Given the description of an element on the screen output the (x, y) to click on. 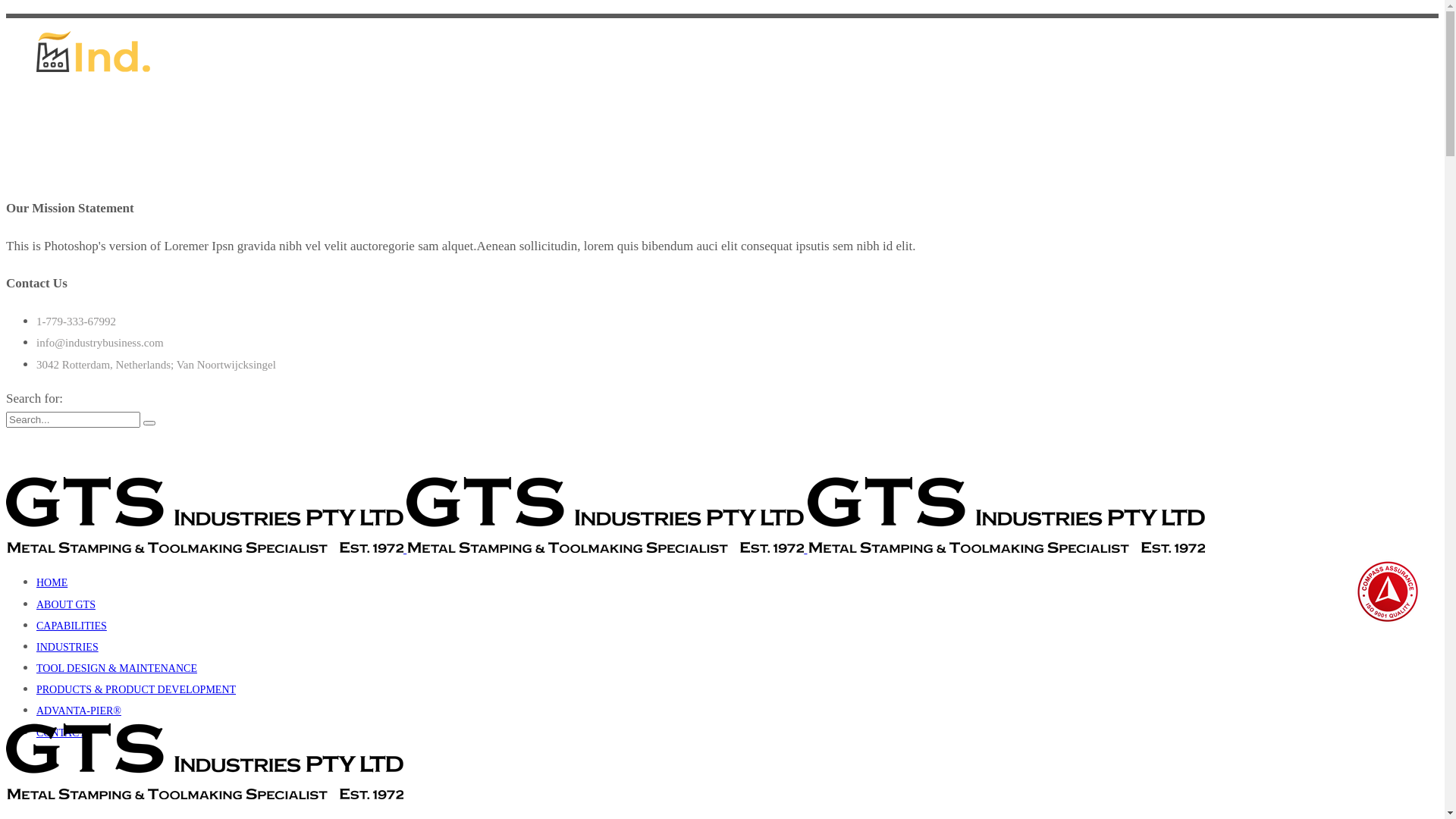
INDUSTRIES Element type: text (67, 646)
PRODUCTS & PRODUCT DEVELOPMENT Element type: text (135, 689)
HOME Element type: text (51, 582)
TOOL DESIGN & MAINTENANCE Element type: text (116, 668)
ABOUT GTS Element type: text (65, 604)
Search for: Element type: hover (73, 419)
CAPABILITIES Element type: text (71, 625)
CONTACT Element type: text (60, 732)
